Given the description of an element on the screen output the (x, y) to click on. 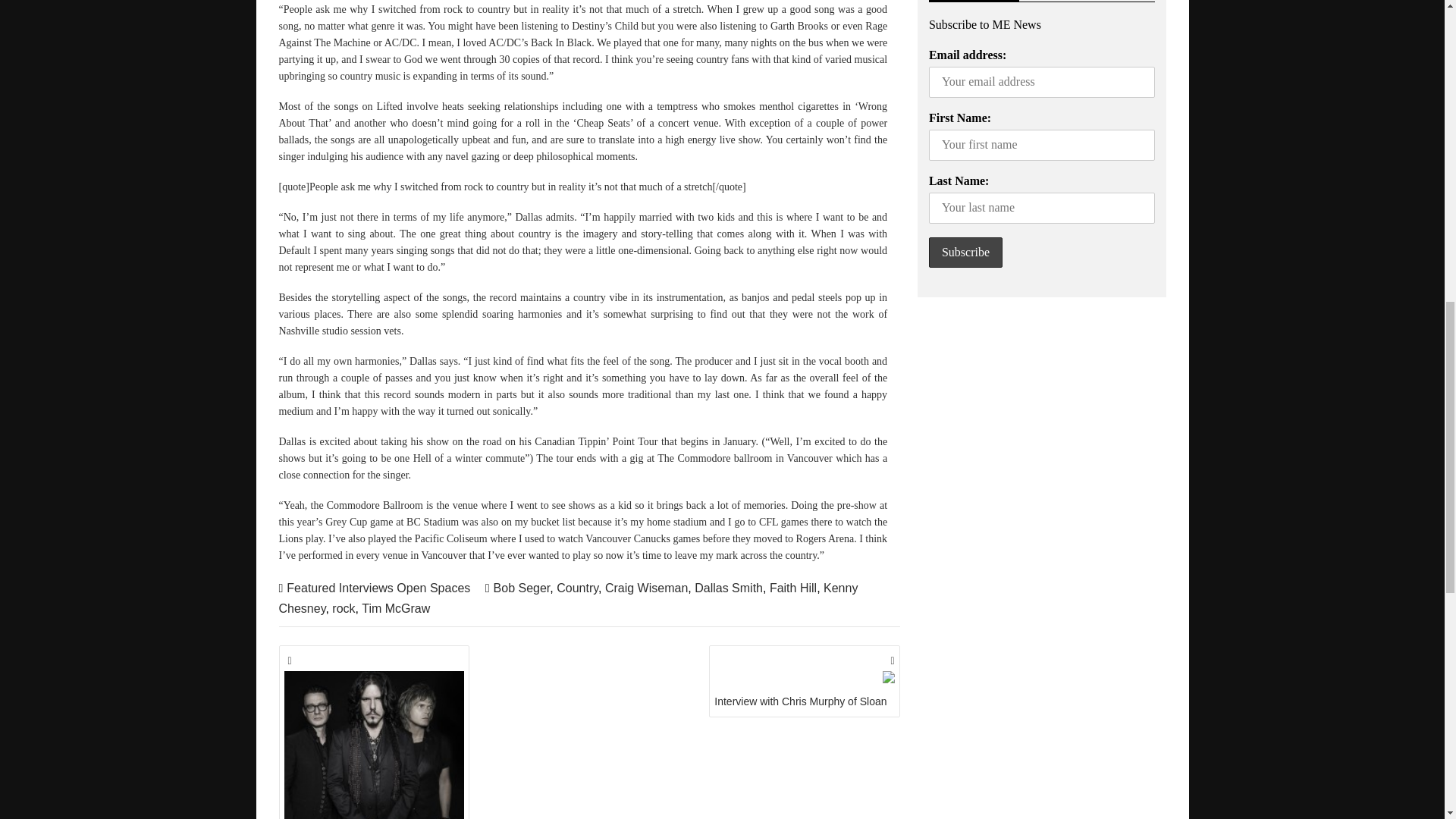
Dallas Smith (728, 587)
Tim McGraw (395, 608)
Faith Hill (793, 587)
Kenny Chesney (569, 598)
Bob Seger (521, 587)
Open Spaces (433, 587)
Interview with Chris Murphy of Sloan (804, 681)
Subscribe (965, 252)
rock (343, 608)
Craig Wiseman (646, 587)
